Given the description of an element on the screen output the (x, y) to click on. 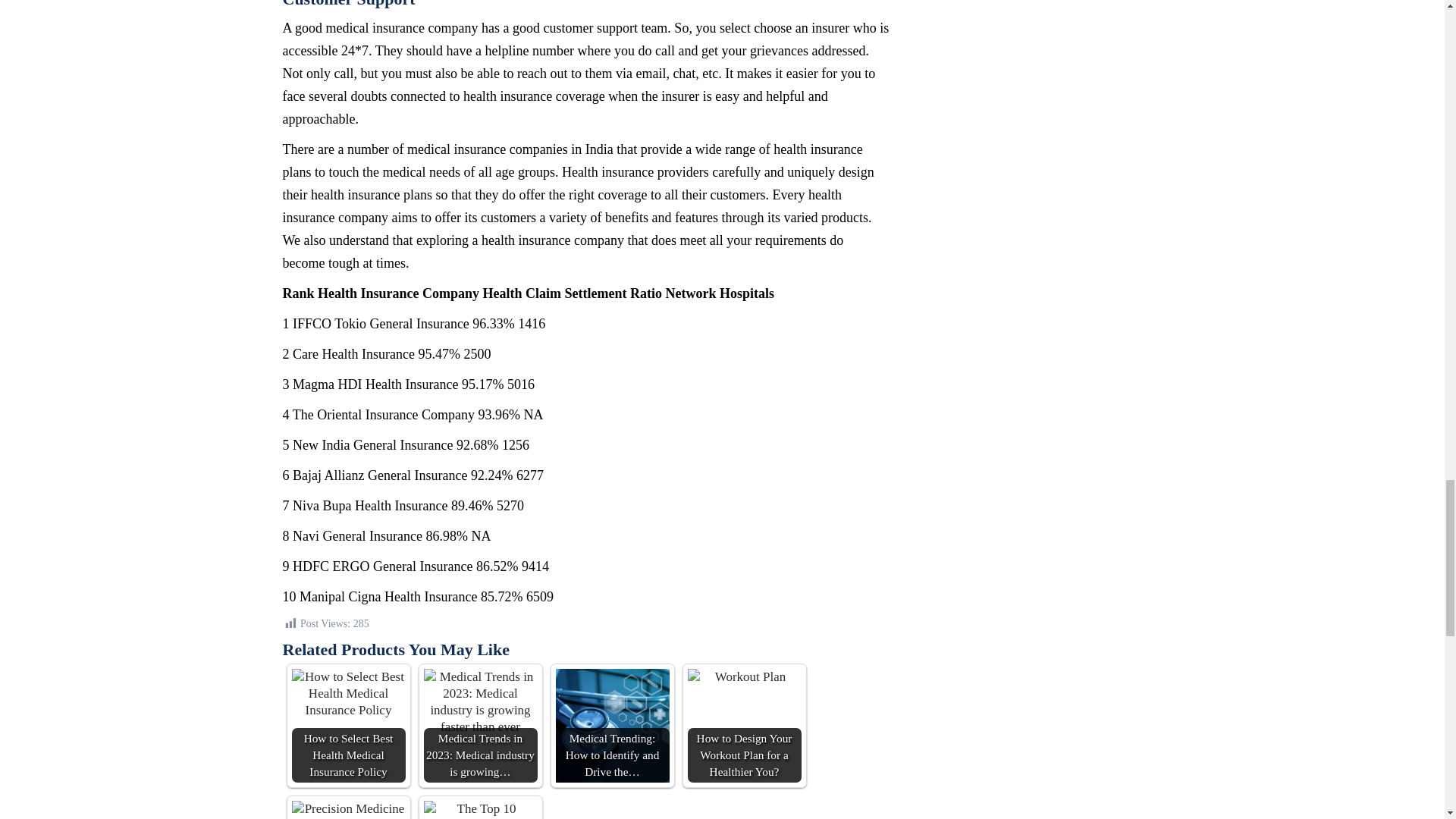
The Top 10 Medical Schools in the World (480, 809)
Precision Medicine: how to create a wellness plan (347, 809)
How to Select Best Health Medical Insurance Policy (347, 725)
How to Design Your Workout Plan for a Healthier You? (743, 725)
How to Select Best Health Medical Insurance Policy (347, 725)
